Given the description of an element on the screen output the (x, y) to click on. 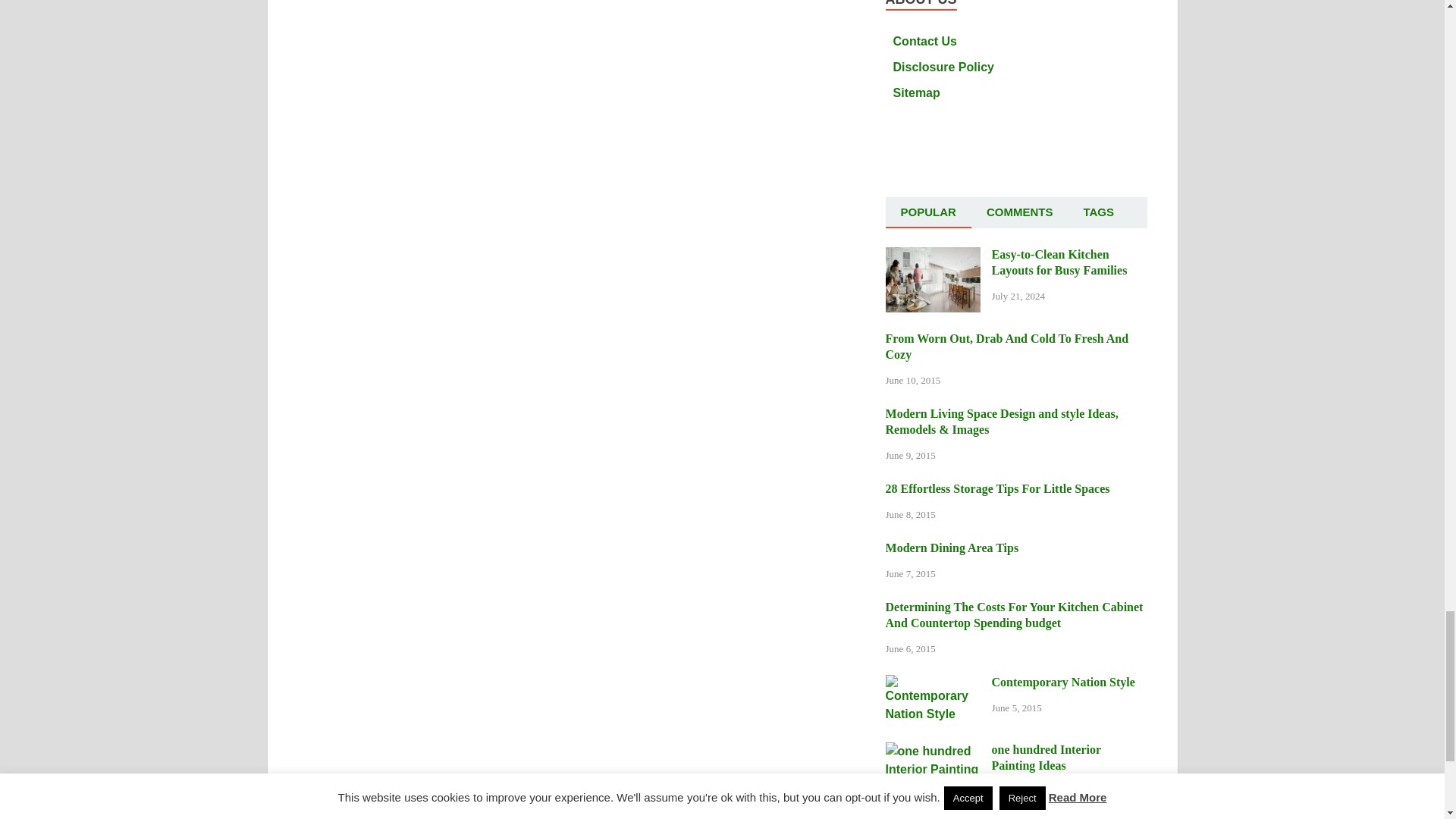
Contemporary Nation Style (932, 683)
one hundred Interior Painting Ideas (932, 750)
Easy-to-Clean Kitchen Layouts for Busy Families (932, 255)
